Given the description of an element on the screen output the (x, y) to click on. 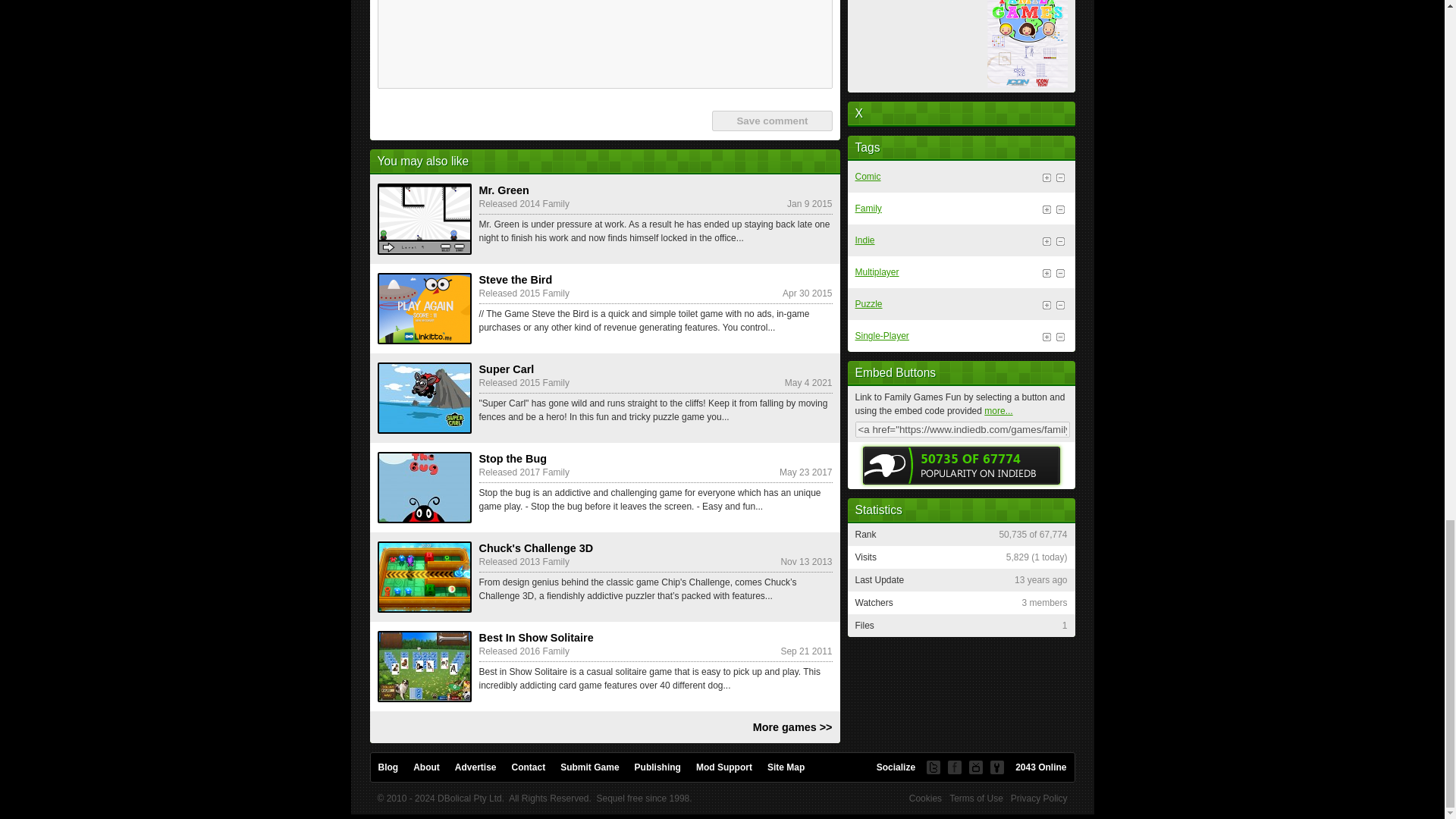
Save comment (771, 120)
